Given the description of an element on the screen output the (x, y) to click on. 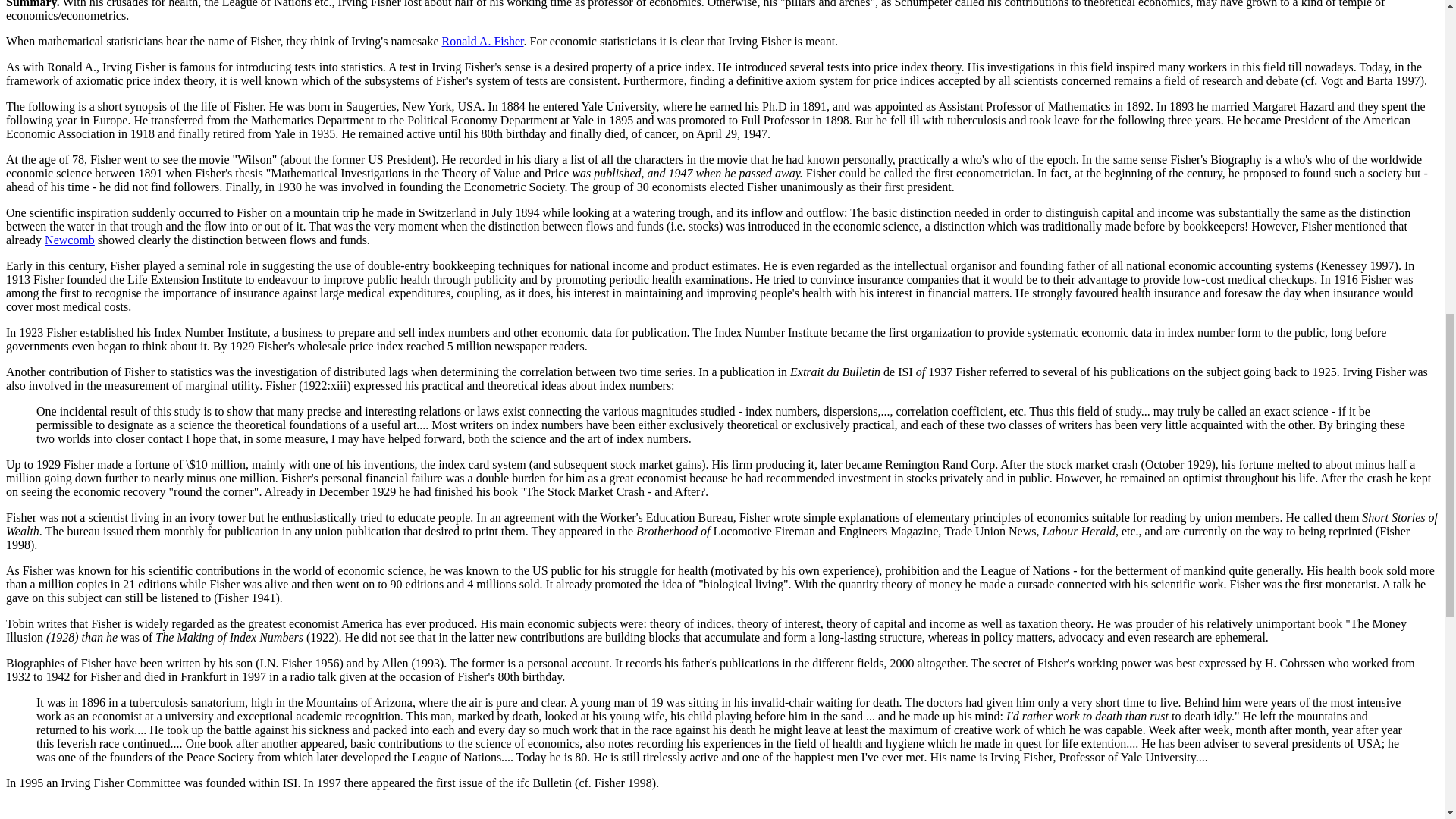
Fisher, Ronald Aylmer (483, 41)
Ronald A. Fisher (483, 41)
Newcomb (69, 239)
